Given the description of an element on the screen output the (x, y) to click on. 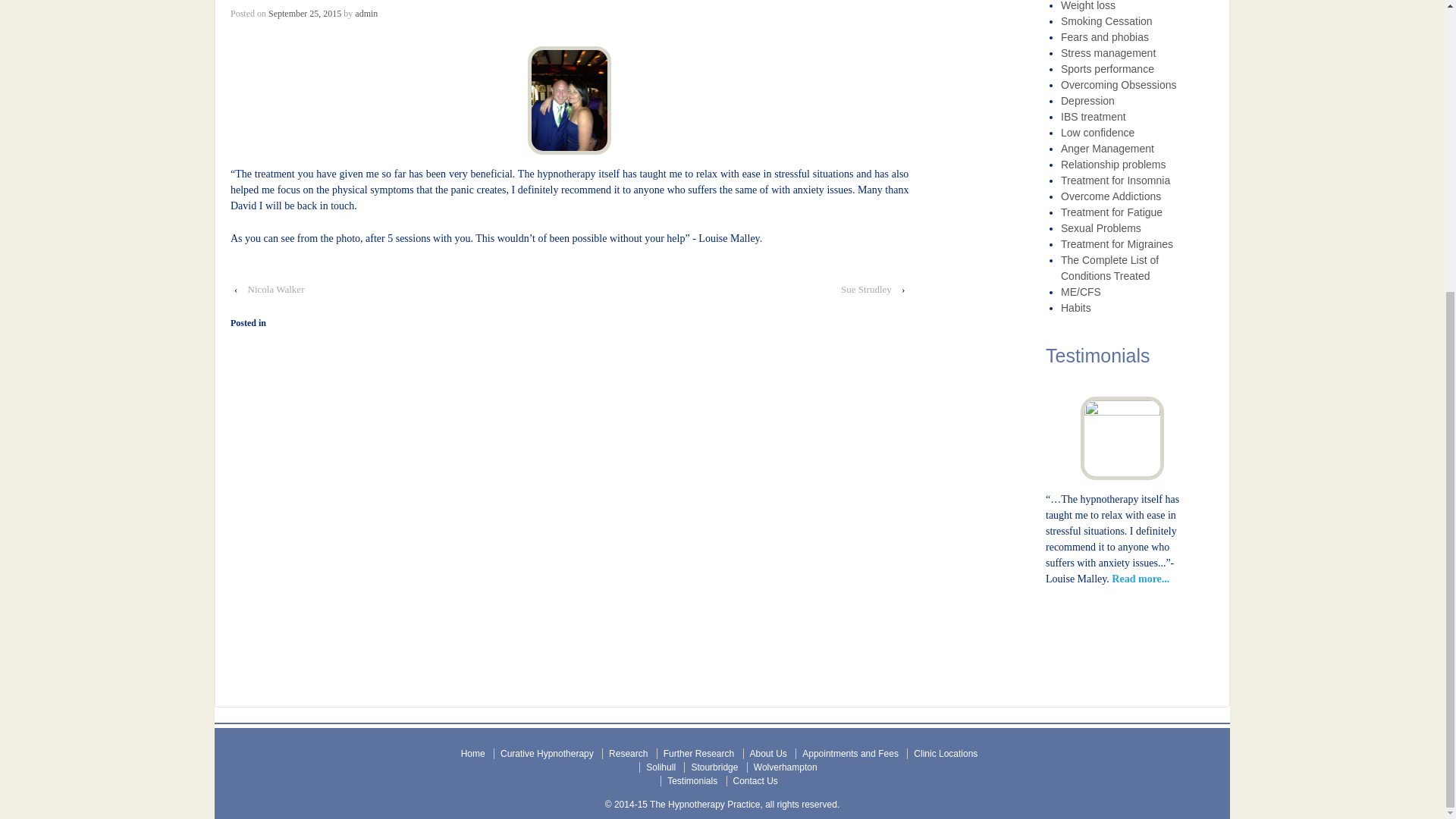
Depression (1088, 101)
View all posts by admin (366, 13)
Low confidence (1097, 132)
Fears and phobias (1104, 37)
Louise Malley (303, 13)
Stress management (1108, 52)
Smoking Cessation (1107, 21)
Overcome Addictions (1110, 196)
Sue Strudley (865, 289)
IBS treatment (1093, 116)
Sports performance (1107, 69)
Sexual Problems (1101, 227)
Anger Management (1107, 148)
Treatment for Migraines (1117, 244)
Weight loss (1088, 5)
